Given the description of an element on the screen output the (x, y) to click on. 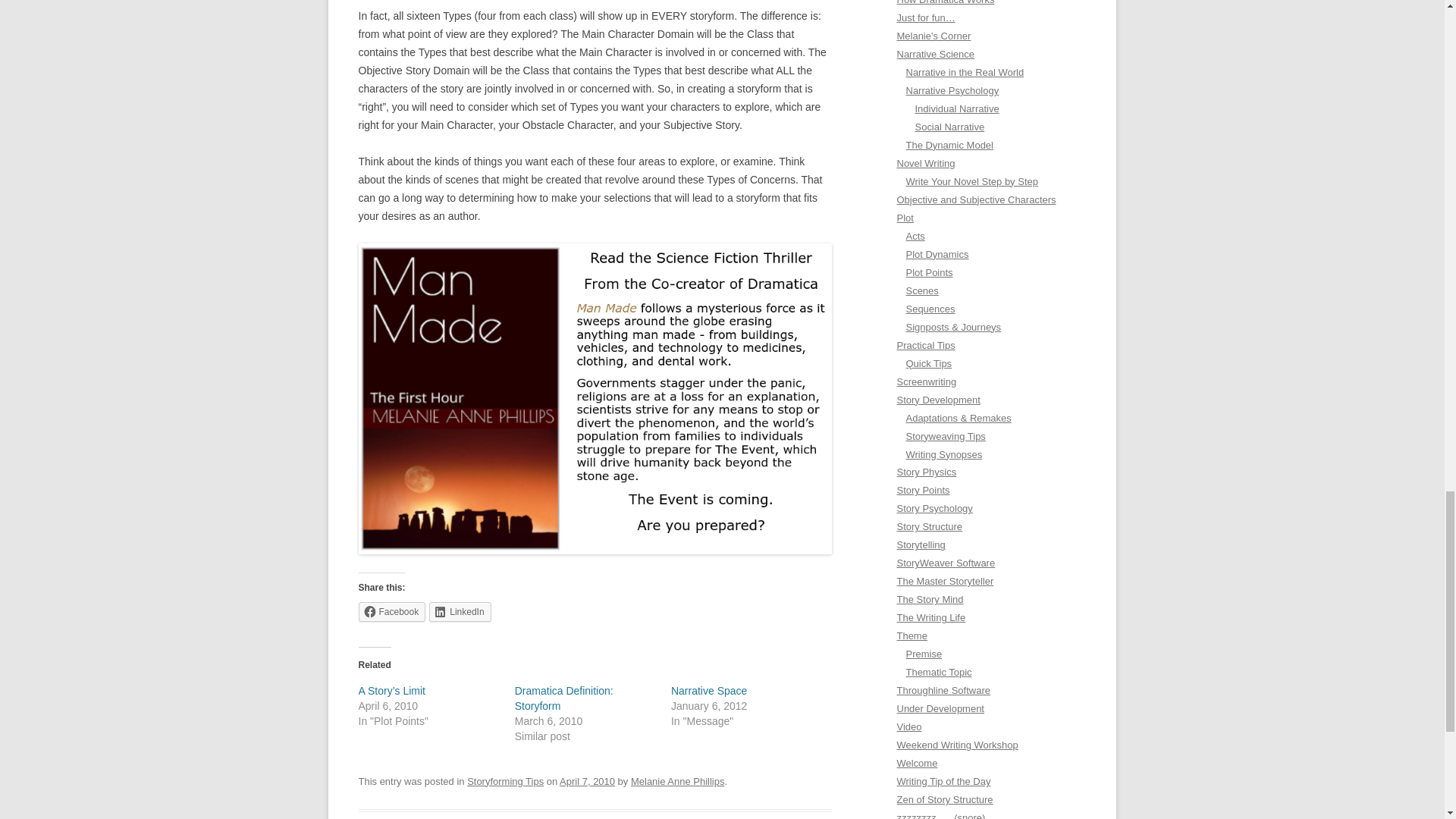
Narrative Space (708, 690)
Dramatica Definition: Storyform (563, 697)
Click to share on Facebook (391, 611)
Facebook (391, 611)
LinkedIn (459, 611)
Melanie Anne Phillips (676, 781)
Dramatica Definition: Storyform (563, 697)
View all posts by Melanie Anne Phillips (676, 781)
April 7, 2010 (586, 781)
Storyforming Tips (505, 781)
Click to share on LinkedIn (459, 611)
2:33 pm (586, 781)
Narrative Space (708, 690)
